Given the description of an element on the screen output the (x, y) to click on. 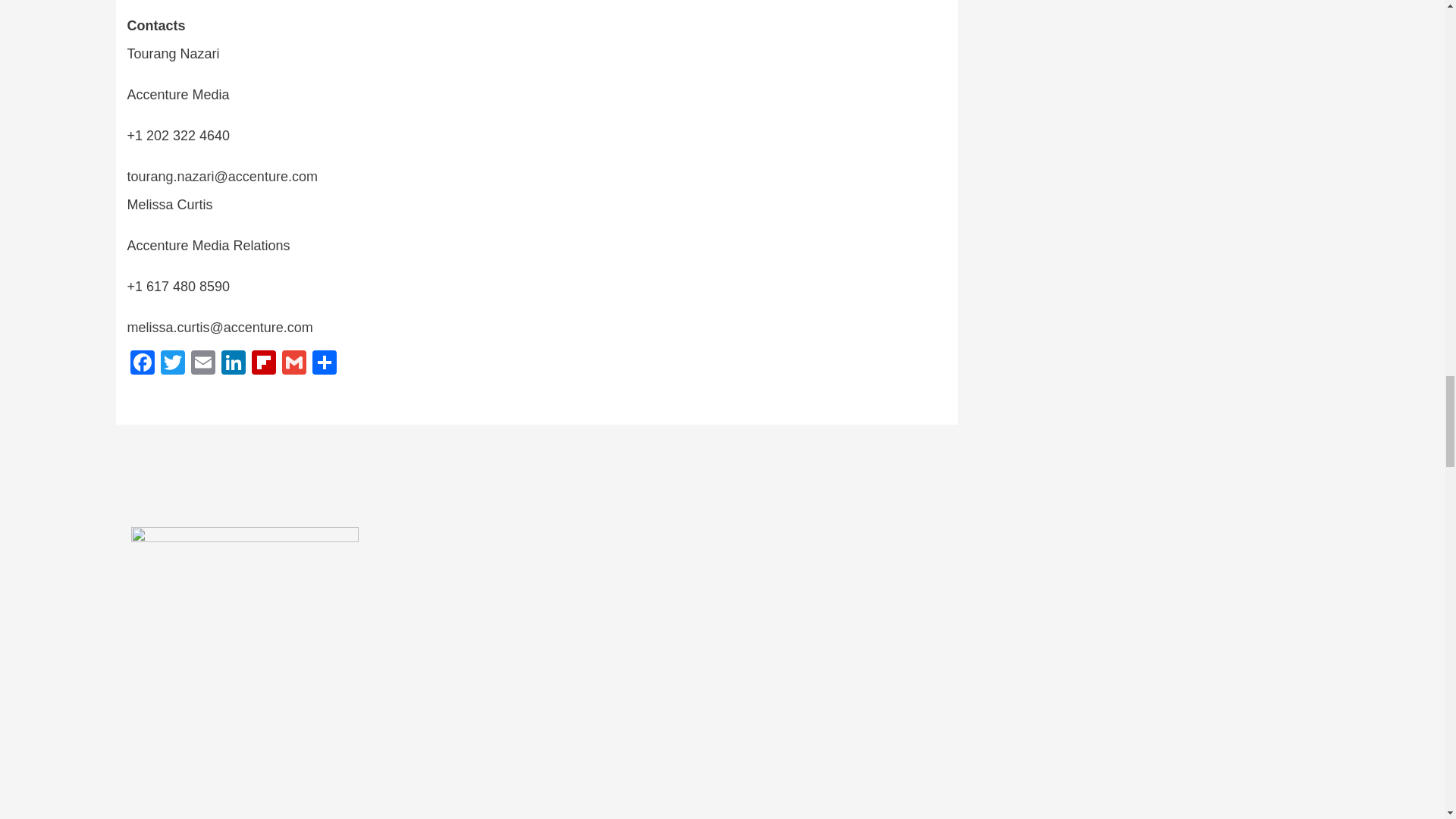
Facebook (142, 364)
Twitter (172, 364)
Email (202, 364)
Gmail (293, 364)
Facebook (142, 364)
Twitter (172, 364)
Gmail (293, 364)
Flipboard (263, 364)
Share (323, 364)
LinkedIn (233, 364)
Flipboard (263, 364)
LinkedIn (233, 364)
Email (202, 364)
